Given the description of an element on the screen output the (x, y) to click on. 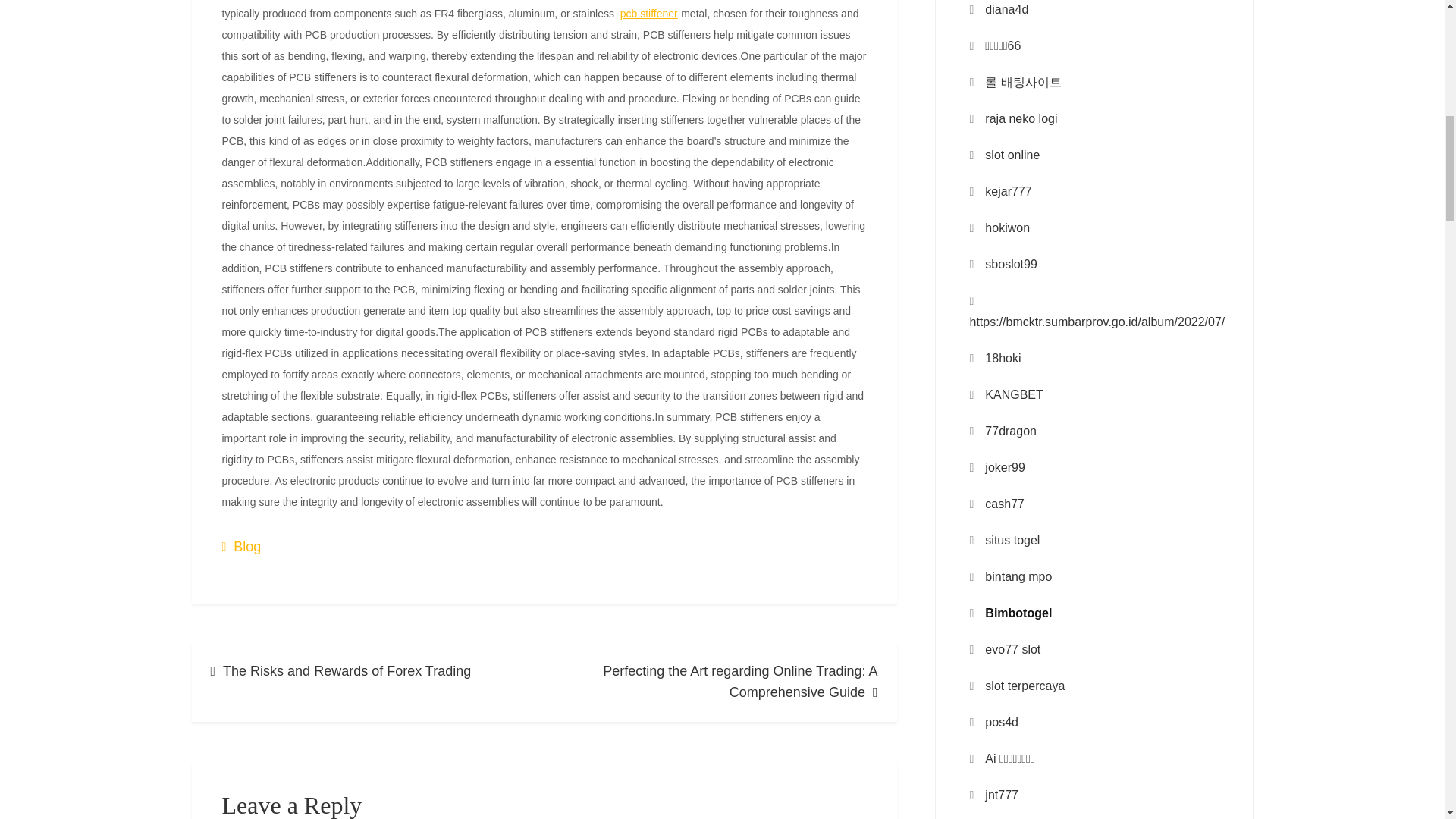
raja neko logi (1021, 118)
77dragon (1010, 431)
The Risks and Rewards of Forex Trading (366, 681)
bintang mpo (1018, 577)
sboslot99 (1010, 264)
slot online (1012, 155)
cash77 (1005, 504)
hokiwon (1007, 228)
joker99 (1005, 467)
KANGBET (1013, 394)
Blog (246, 546)
slot terpercaya (1024, 685)
situs togel (1012, 540)
evo77 slot (1013, 649)
pos4d (1001, 722)
